Given the description of an element on the screen output the (x, y) to click on. 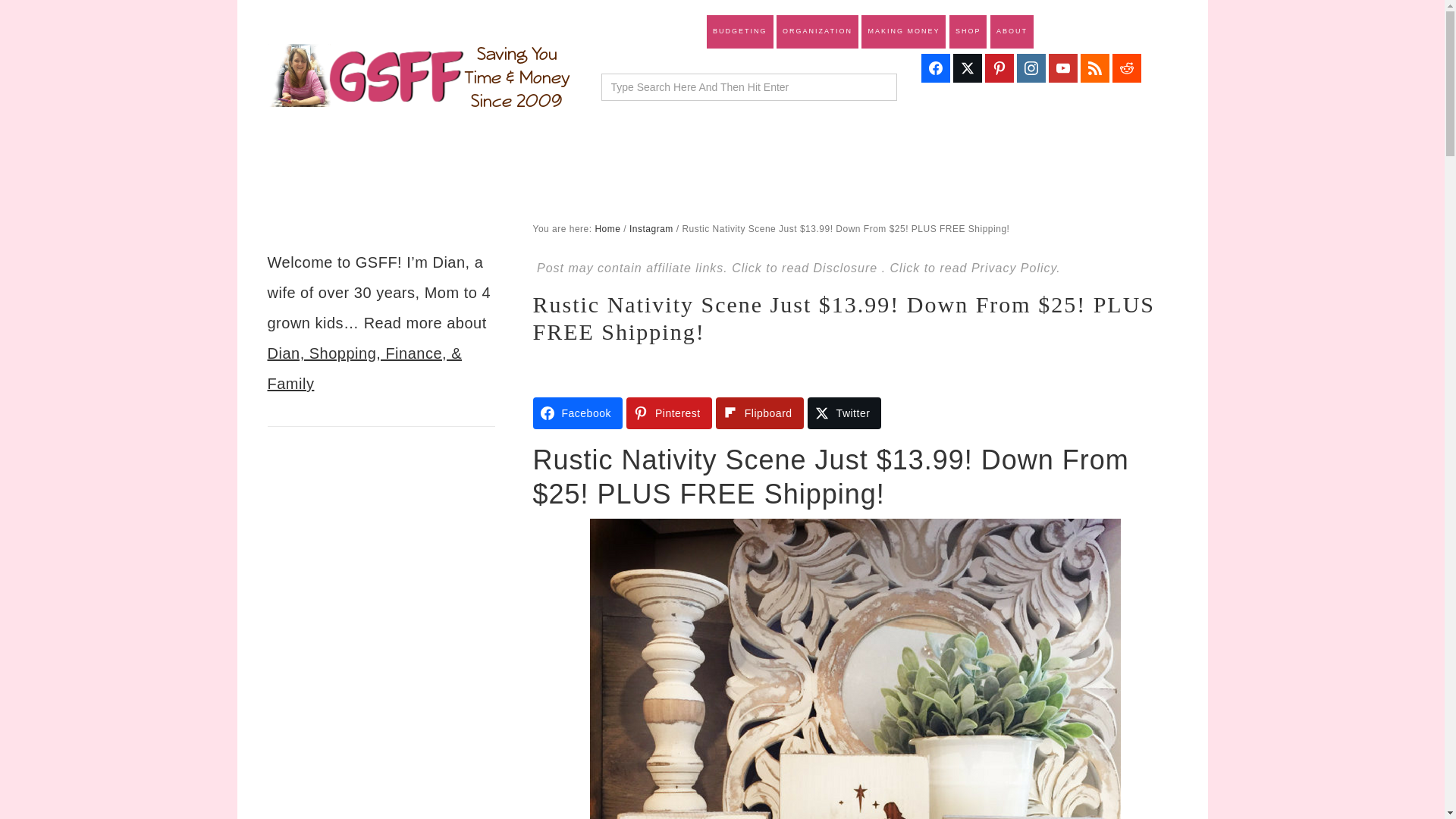
Share on Facebook (576, 413)
Facebook (576, 413)
Share on Twitter (845, 413)
Home (607, 228)
Twitter (845, 413)
ABOUT (1011, 31)
Share on Flipboard (759, 413)
GSFF (418, 75)
Instagram (650, 228)
Disclosure (847, 267)
